Given the description of an element on the screen output the (x, y) to click on. 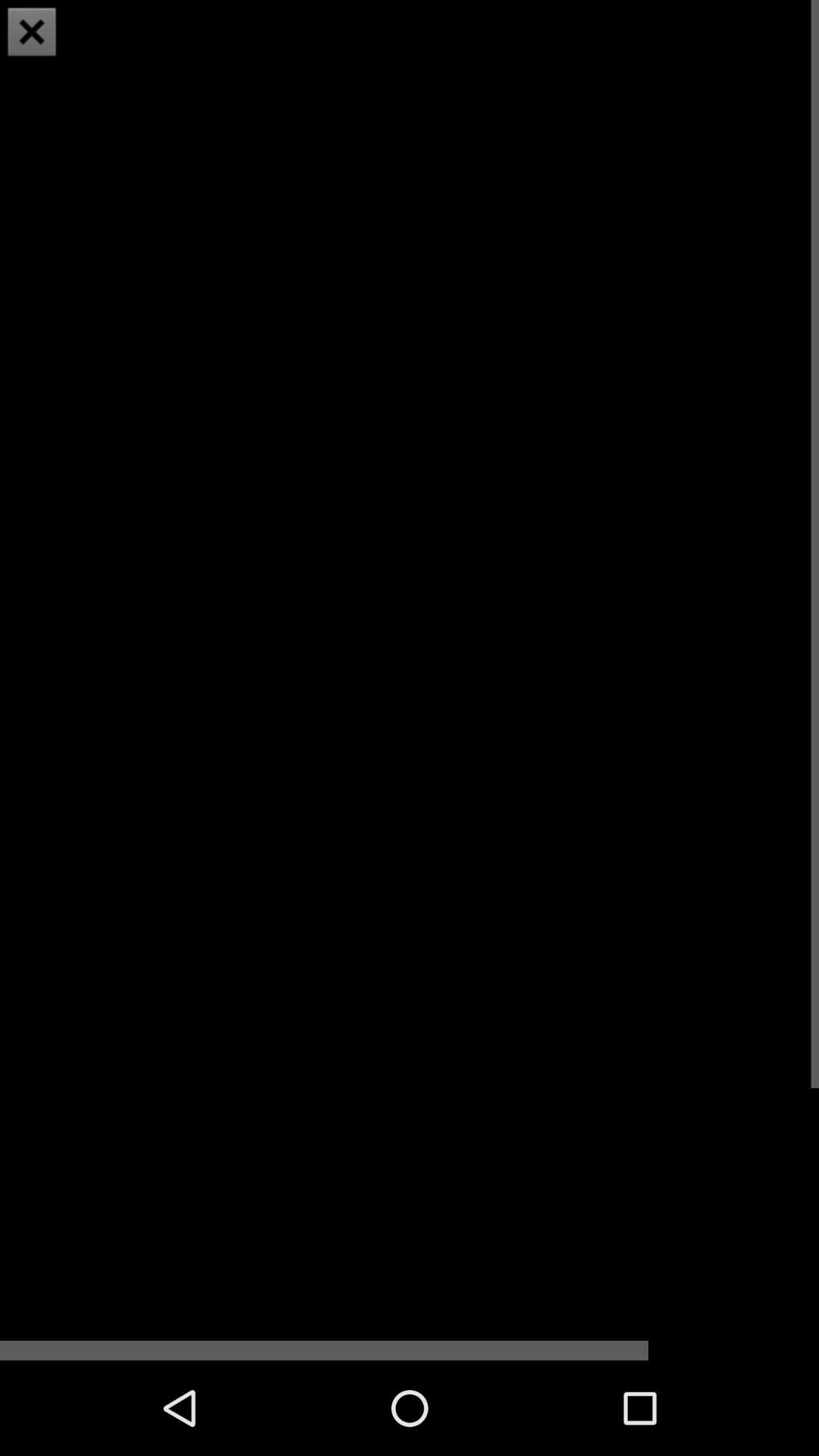
click item at the center (409, 680)
